Given the description of an element on the screen output the (x, y) to click on. 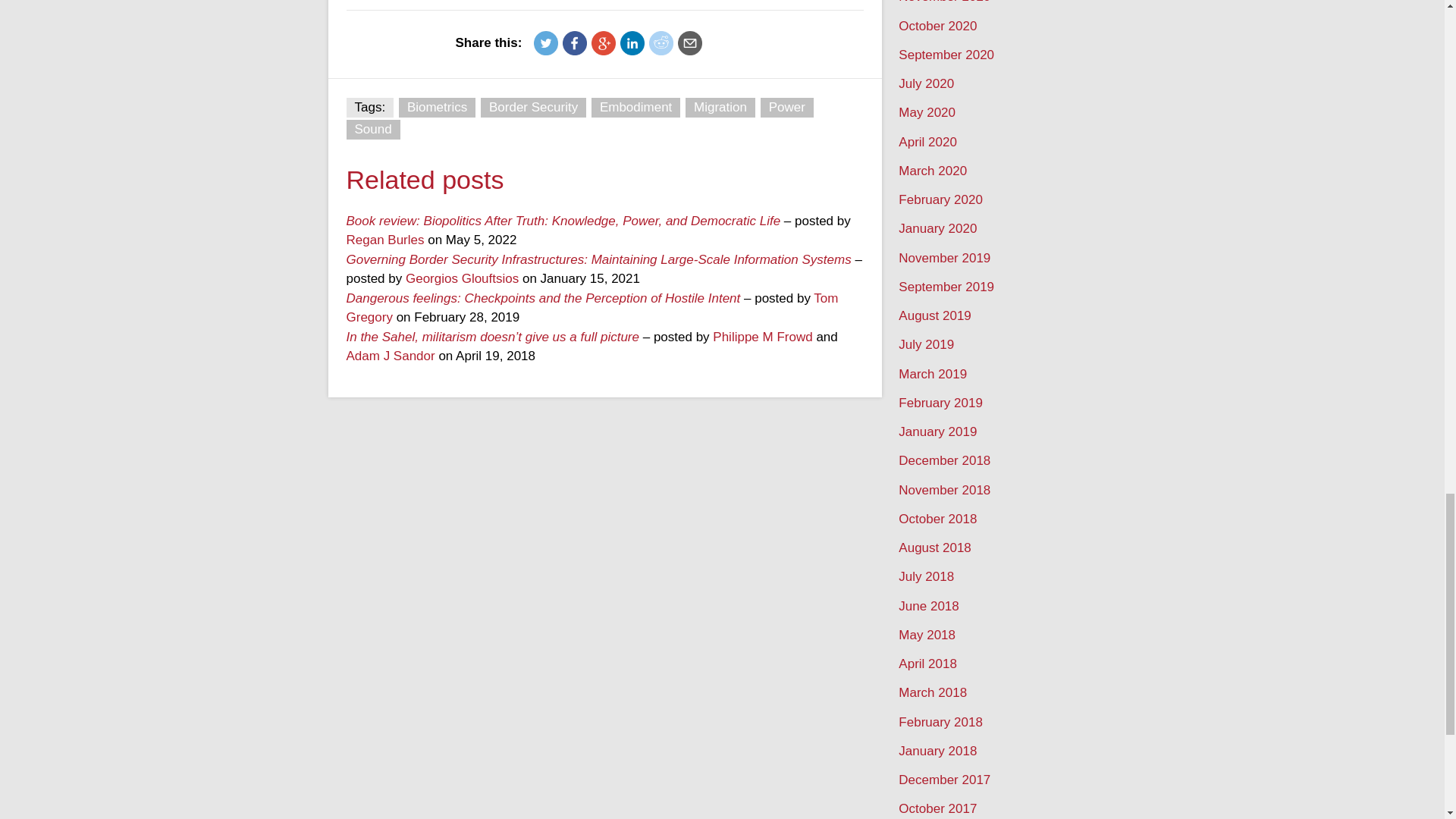
Posts by Tom Gregory (592, 308)
Adam J Sandor (389, 355)
Biometrics (437, 107)
Power (786, 107)
Embodiment (635, 107)
Migration (720, 107)
Philippe M Frowd (762, 336)
Regan Burles (384, 239)
Click to share by Email (689, 43)
Click to share on LinkedIn (632, 43)
Click to share on Twitter (545, 43)
